Given the description of an element on the screen output the (x, y) to click on. 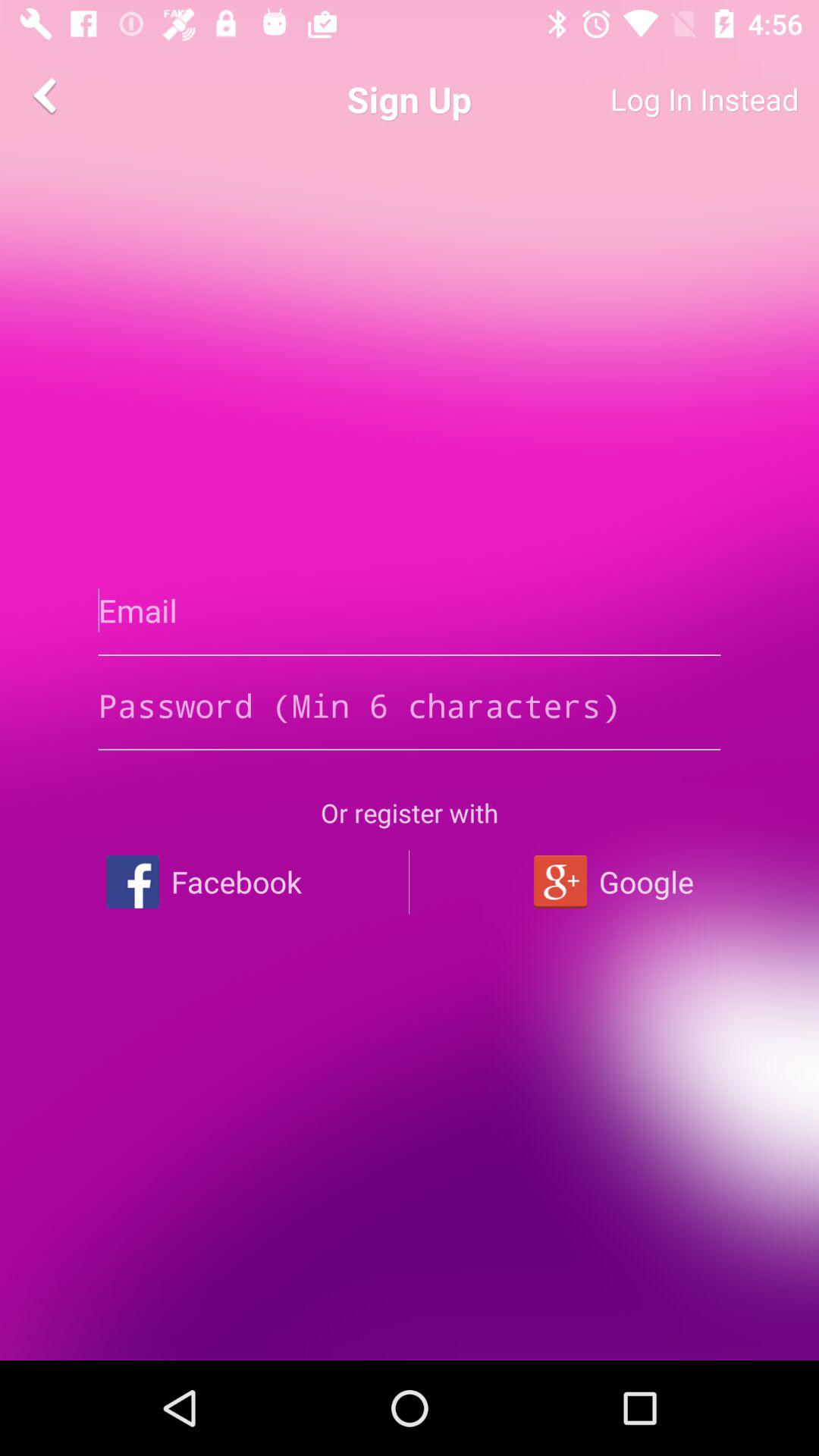
flip until log in instead button (649, 99)
